Given the description of an element on the screen output the (x, y) to click on. 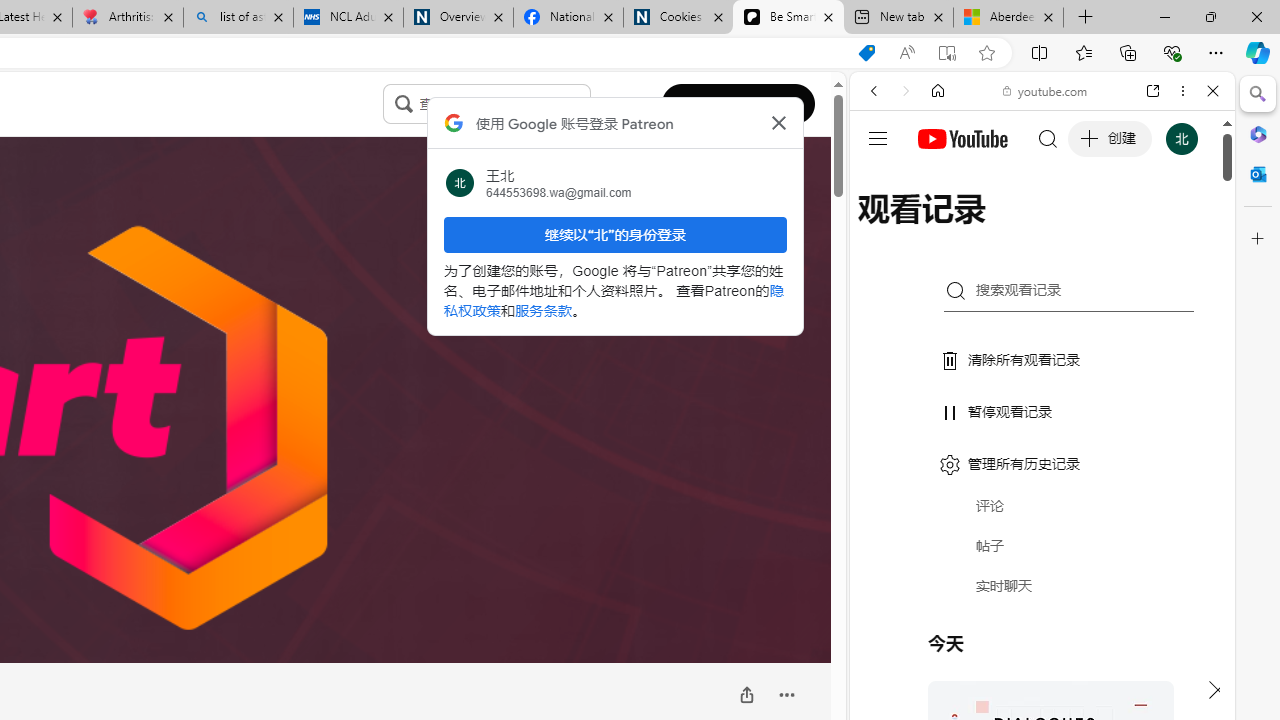
Class: sc-jrQzAO inFiZu (403, 103)
Search videos from youtube.com (1005, 657)
